Given the description of an element on the screen output the (x, y) to click on. 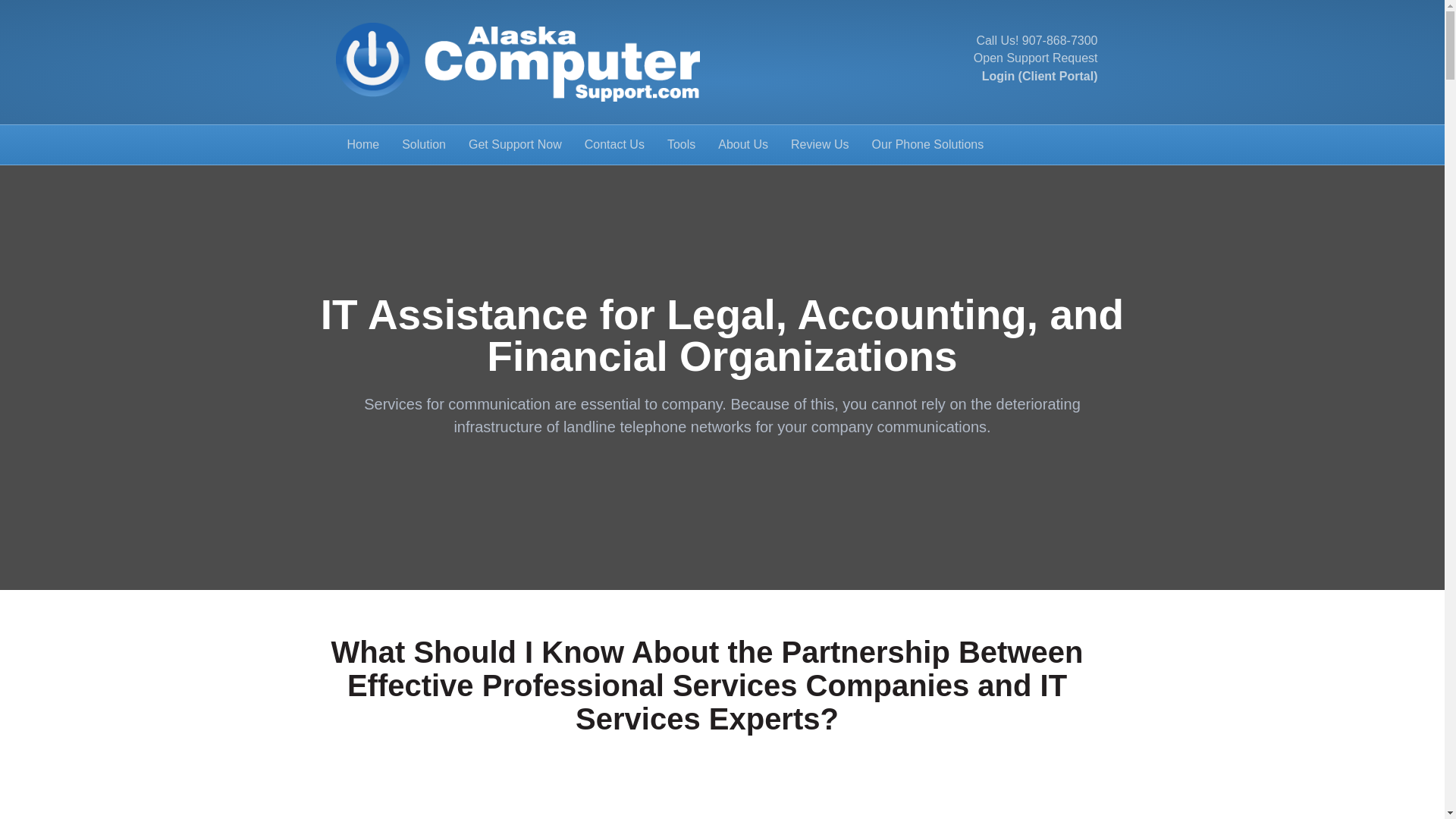
907-868-7300 (1059, 40)
Home (362, 144)
Open Support Request (1035, 57)
